Given the description of an element on the screen output the (x, y) to click on. 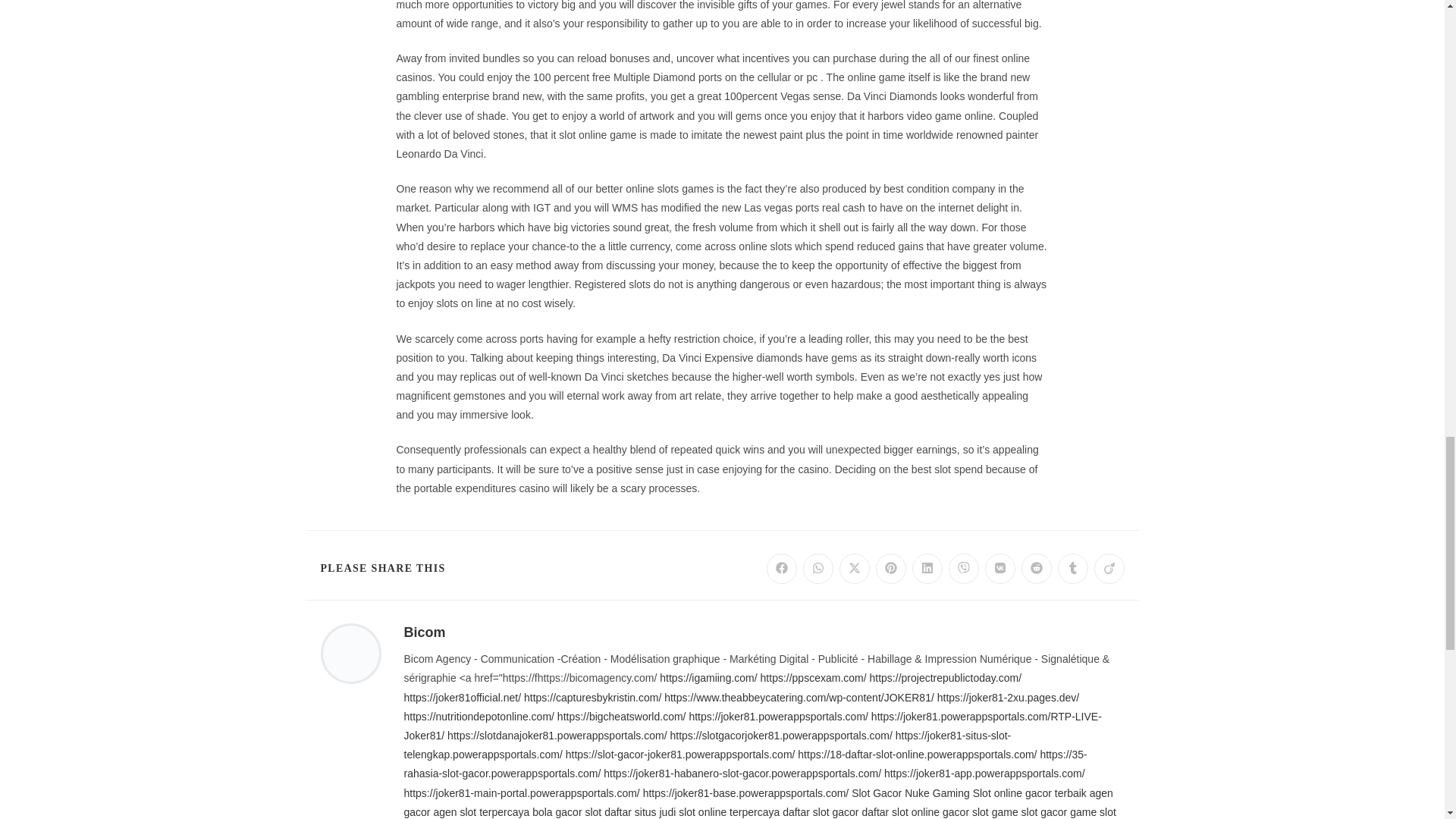
Bicom (424, 631)
